Given the description of an element on the screen output the (x, y) to click on. 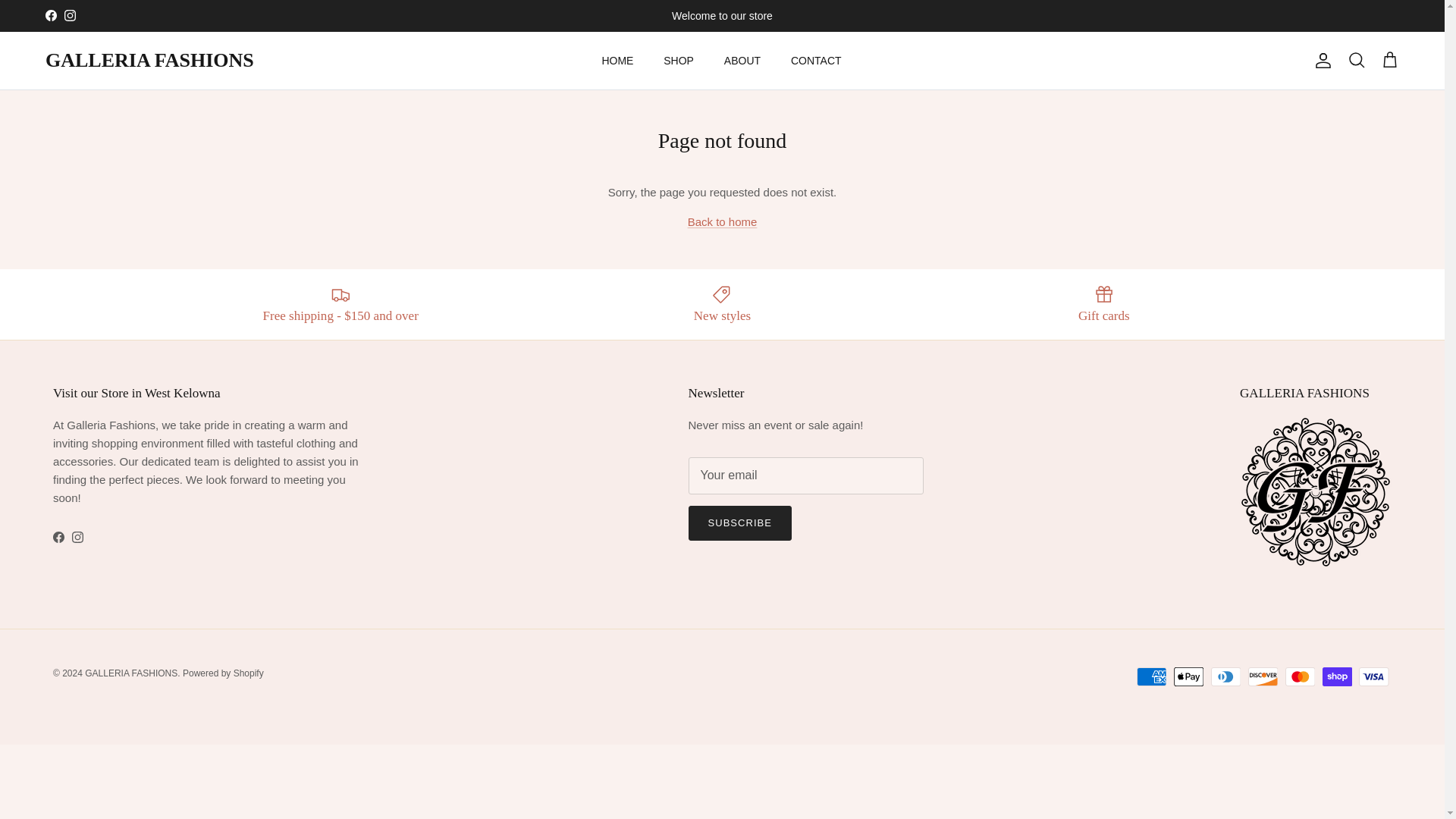
HOME (617, 60)
Powered by Shopify (223, 673)
Mastercard (1299, 676)
SUBSCRIBE (740, 523)
Cart (1389, 60)
Shop Pay (1337, 676)
GALLERIA FASHIONS (149, 60)
Apple Pay (1188, 676)
GALLERIA FASHIONS on Facebook (58, 536)
American Express (1151, 676)
